Given the description of an element on the screen output the (x, y) to click on. 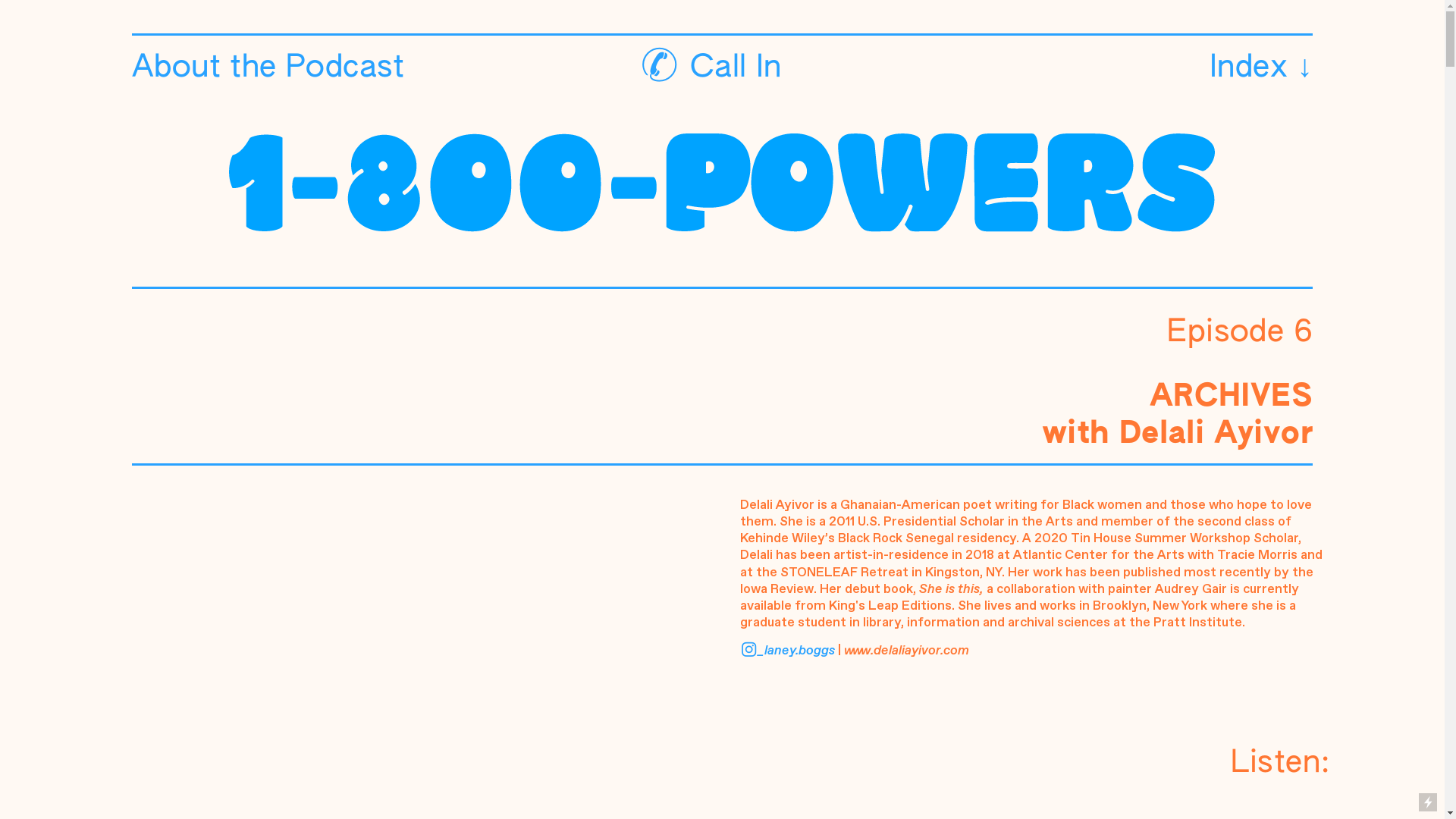
About the Podcast Element type: text (267, 68)
www.delaliayivor.c Element type: text (897, 650)
